Given the description of an element on the screen output the (x, y) to click on. 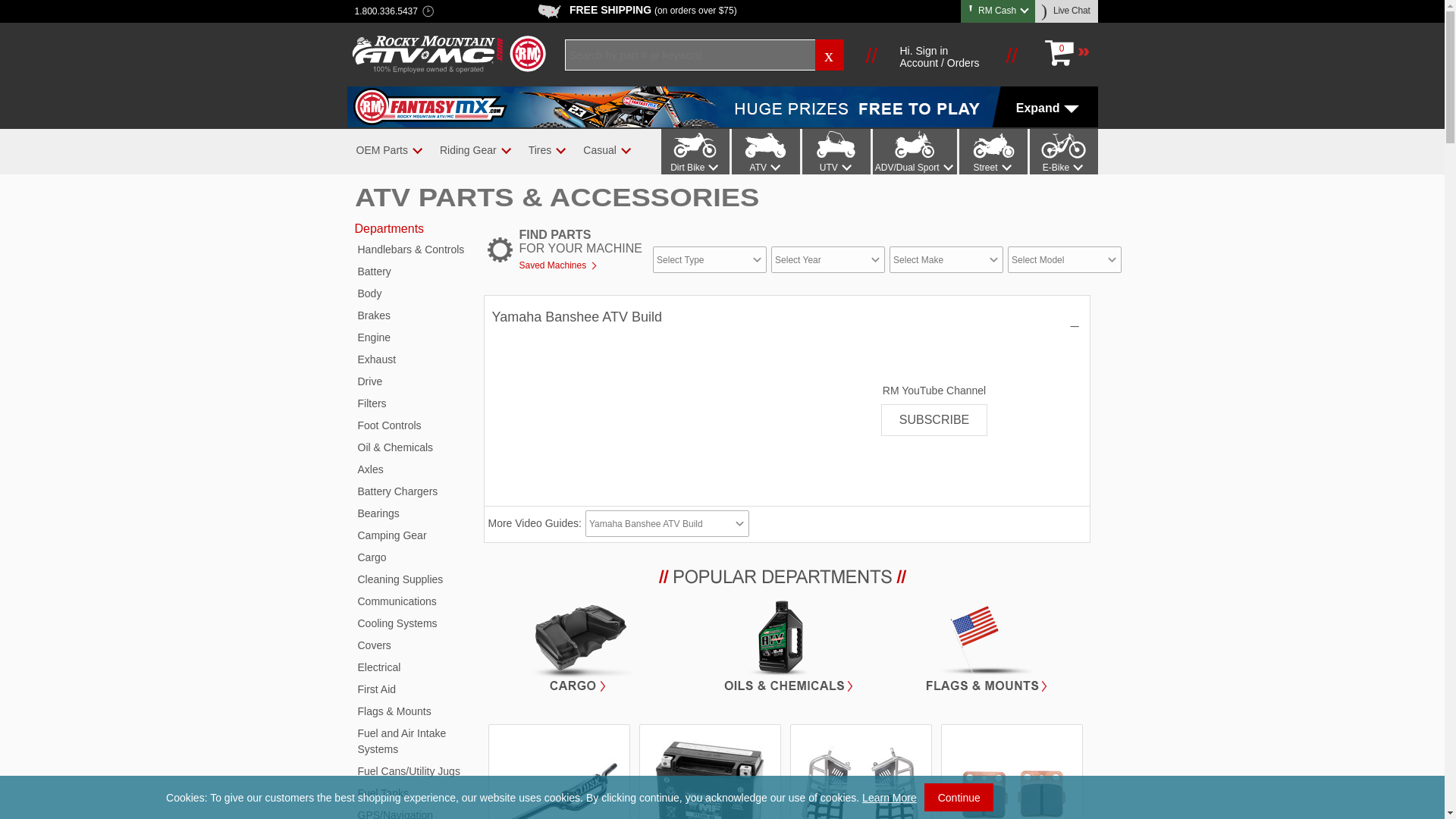
Continue (958, 796)
RM Cash (997, 9)
OEM Parts (381, 150)
0 (1066, 53)
Select Year (828, 259)
Expand (722, 106)
Live Chat (1067, 11)
1.800.336.5437 (386, 12)
Select Make (946, 259)
Learn More (889, 797)
